Given the description of an element on the screen output the (x, y) to click on. 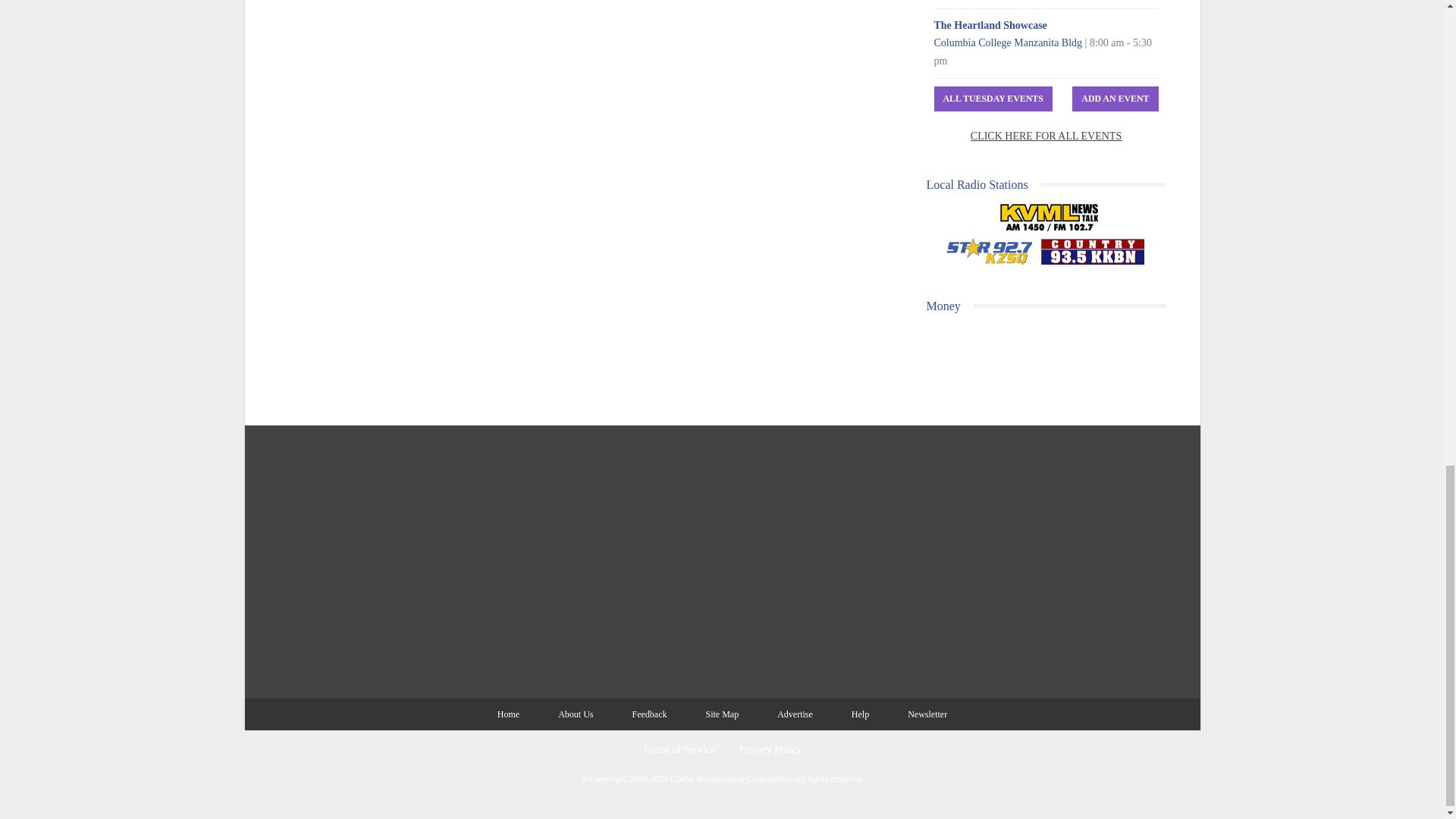
All Tuesday Events (993, 98)
Add An Event (1114, 98)
